Given the description of an element on the screen output the (x, y) to click on. 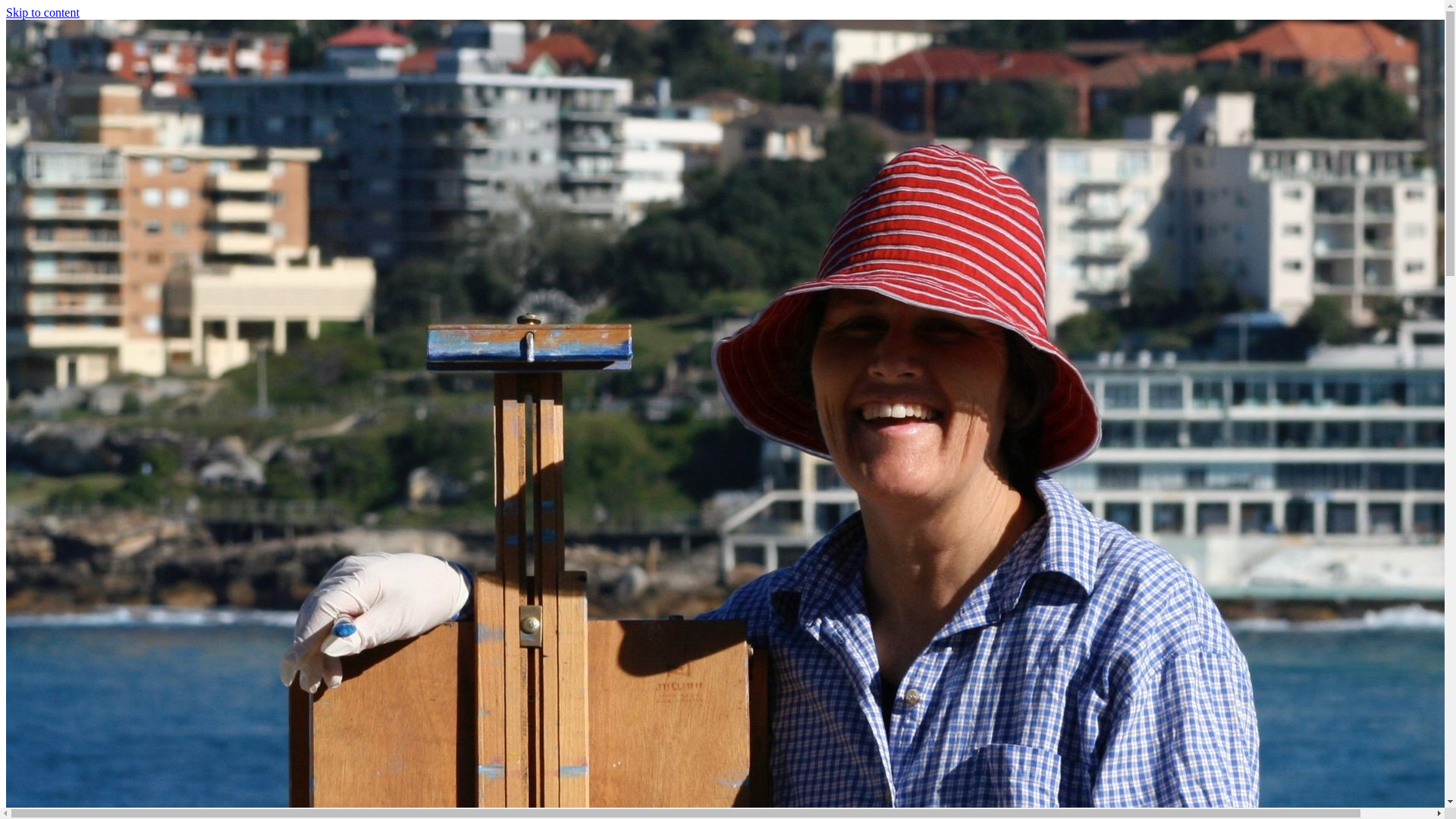
Skip to content Element type: text (42, 12)
